Given the description of an element on the screen output the (x, y) to click on. 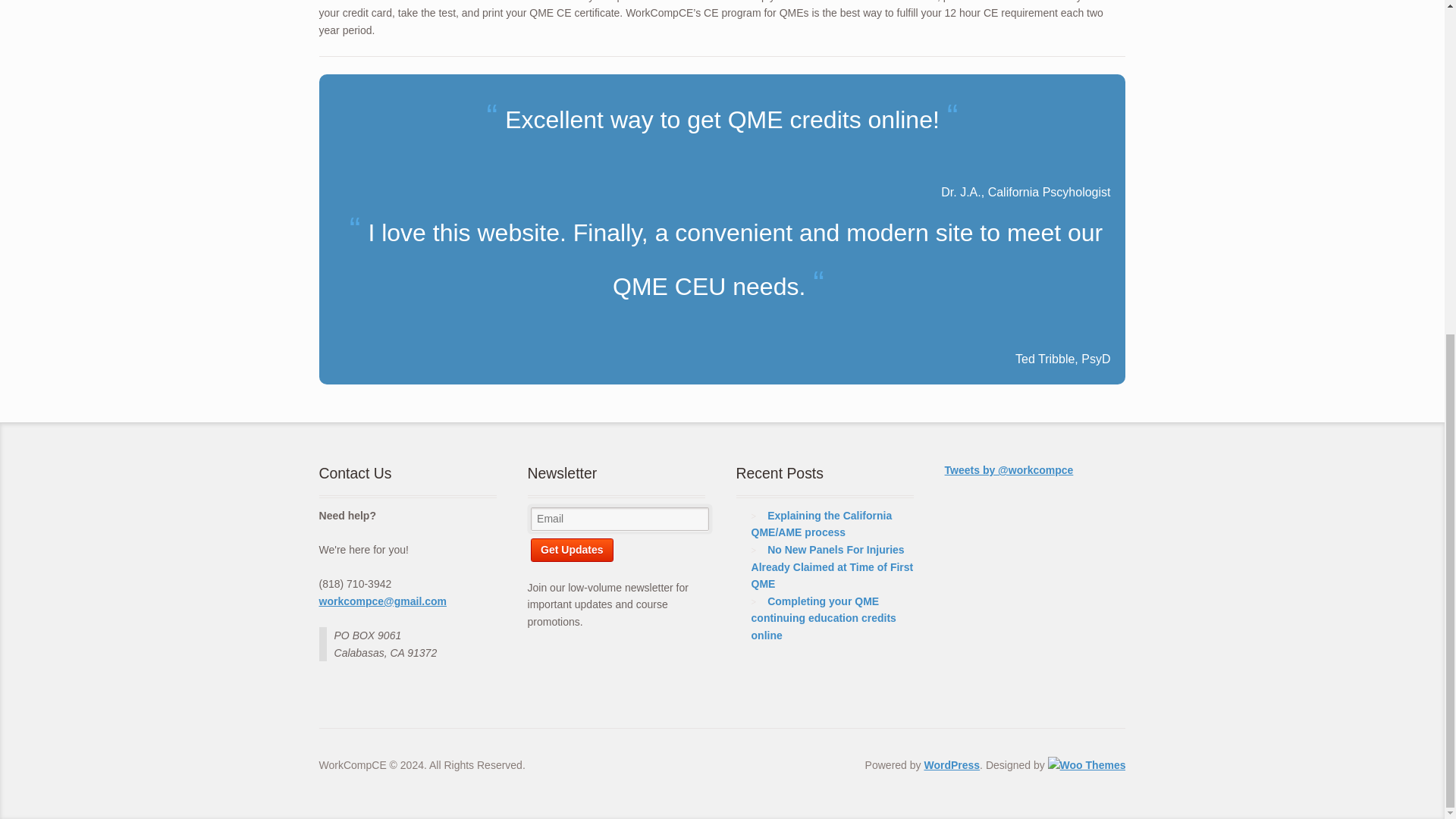
Get Updates (571, 549)
WordPress (951, 765)
Get Updates (571, 549)
Completing your QME continuing education credits online (823, 618)
